Given the description of an element on the screen output the (x, y) to click on. 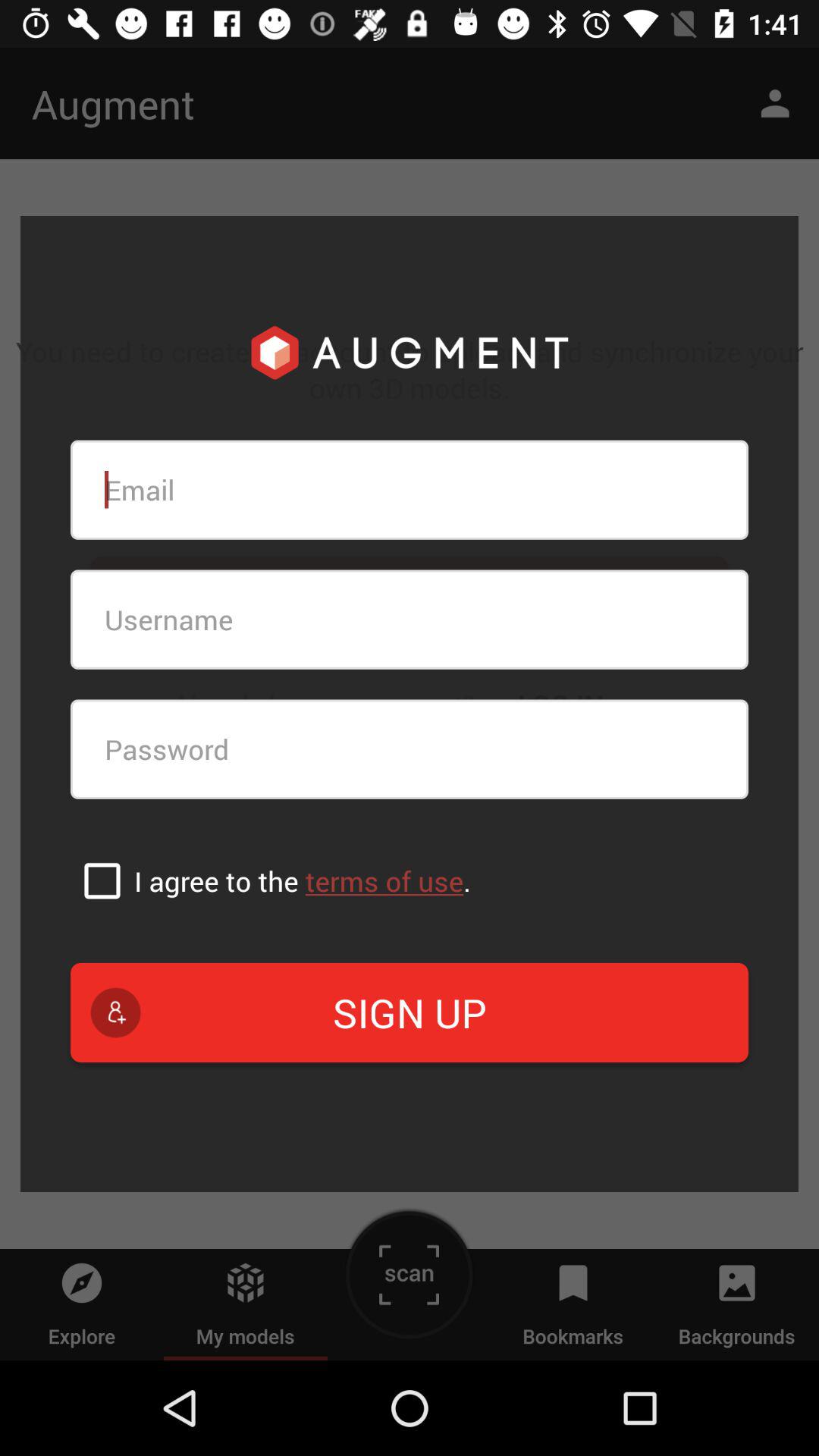
enter the username (409, 619)
